Given the description of an element on the screen output the (x, y) to click on. 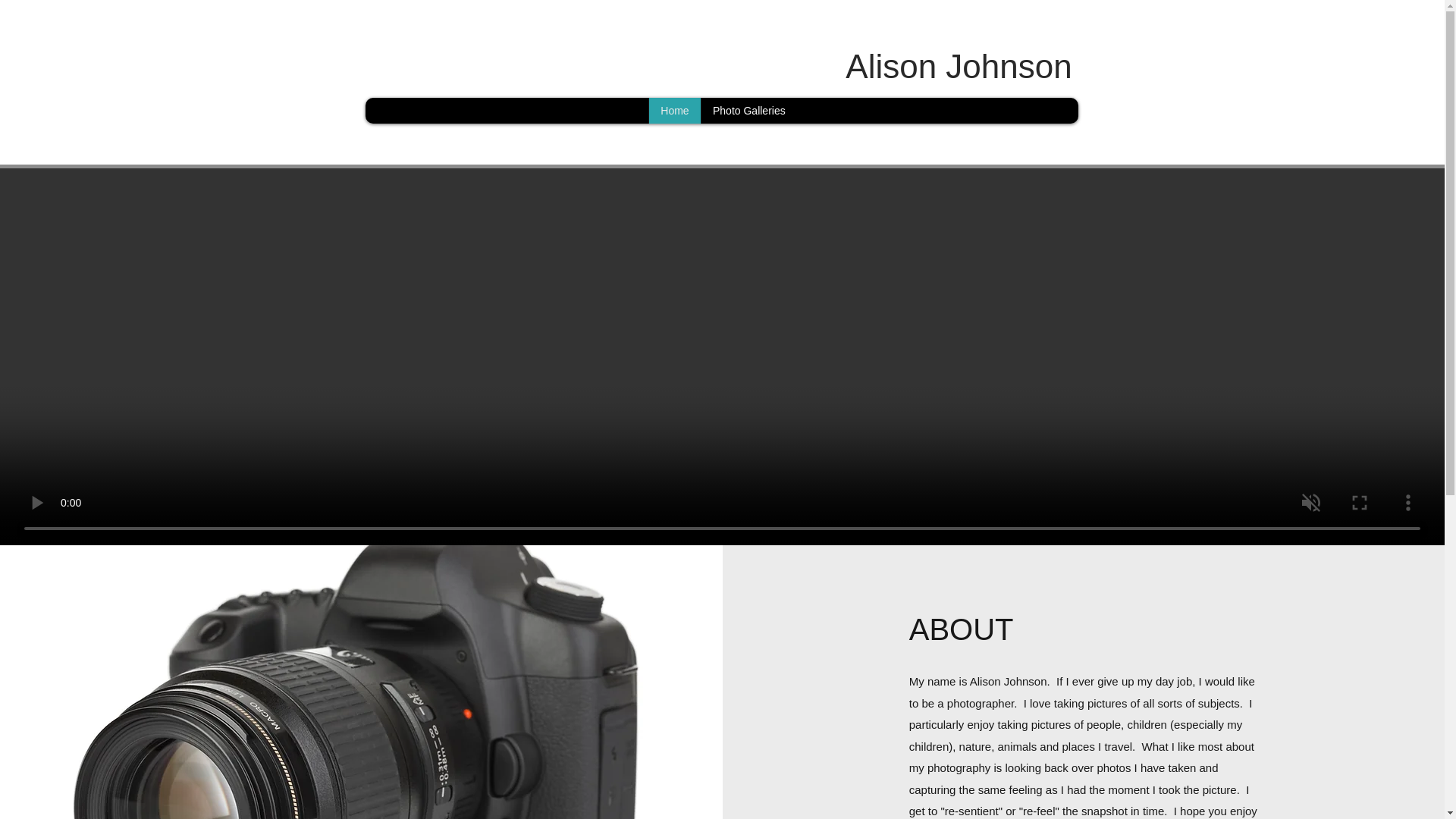
Photo Galleries (748, 110)
Home (673, 110)
